Given the description of an element on the screen output the (x, y) to click on. 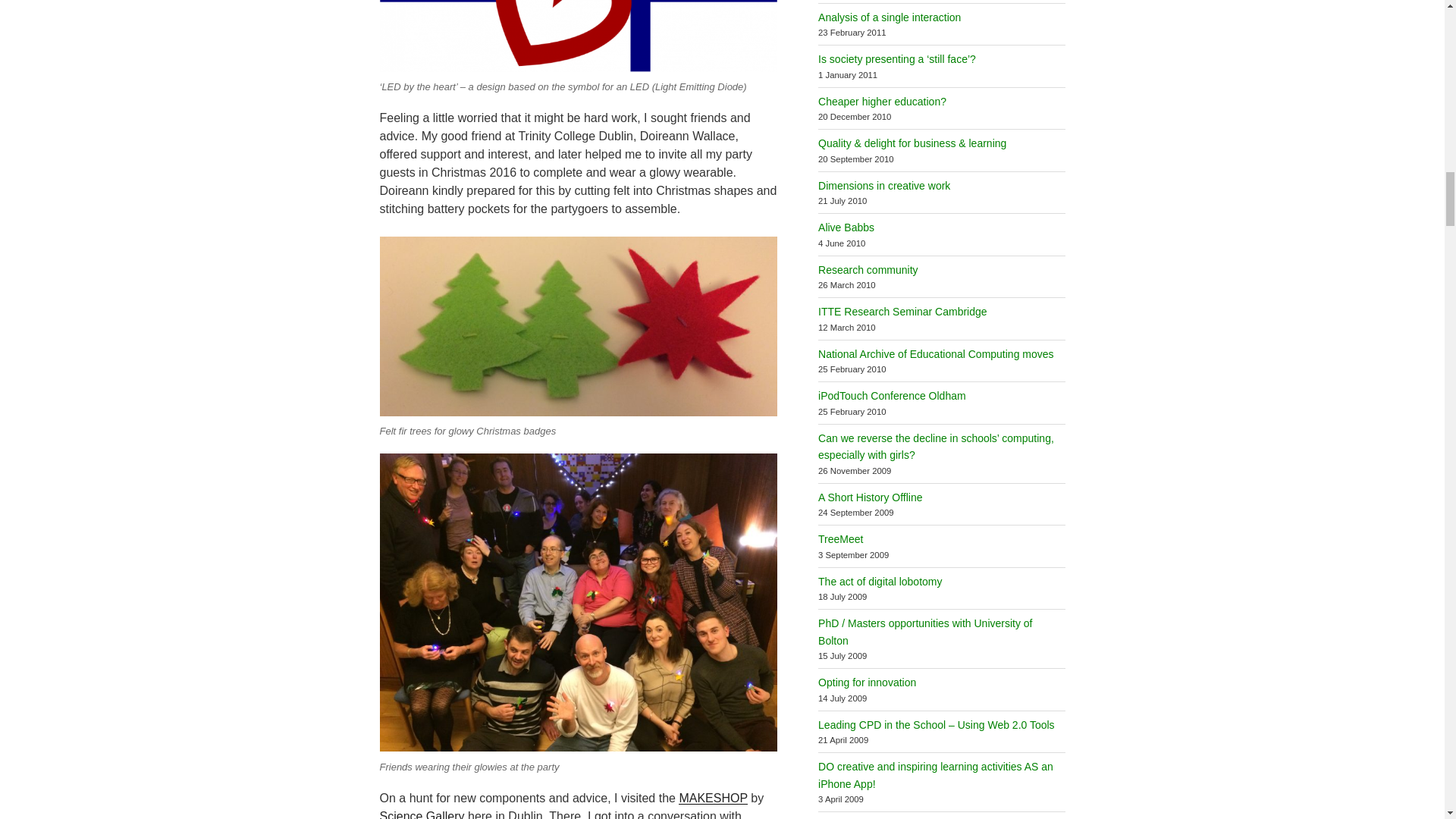
MAKESHOP (712, 797)
Science Gallery (421, 814)
